Given the description of an element on the screen output the (x, y) to click on. 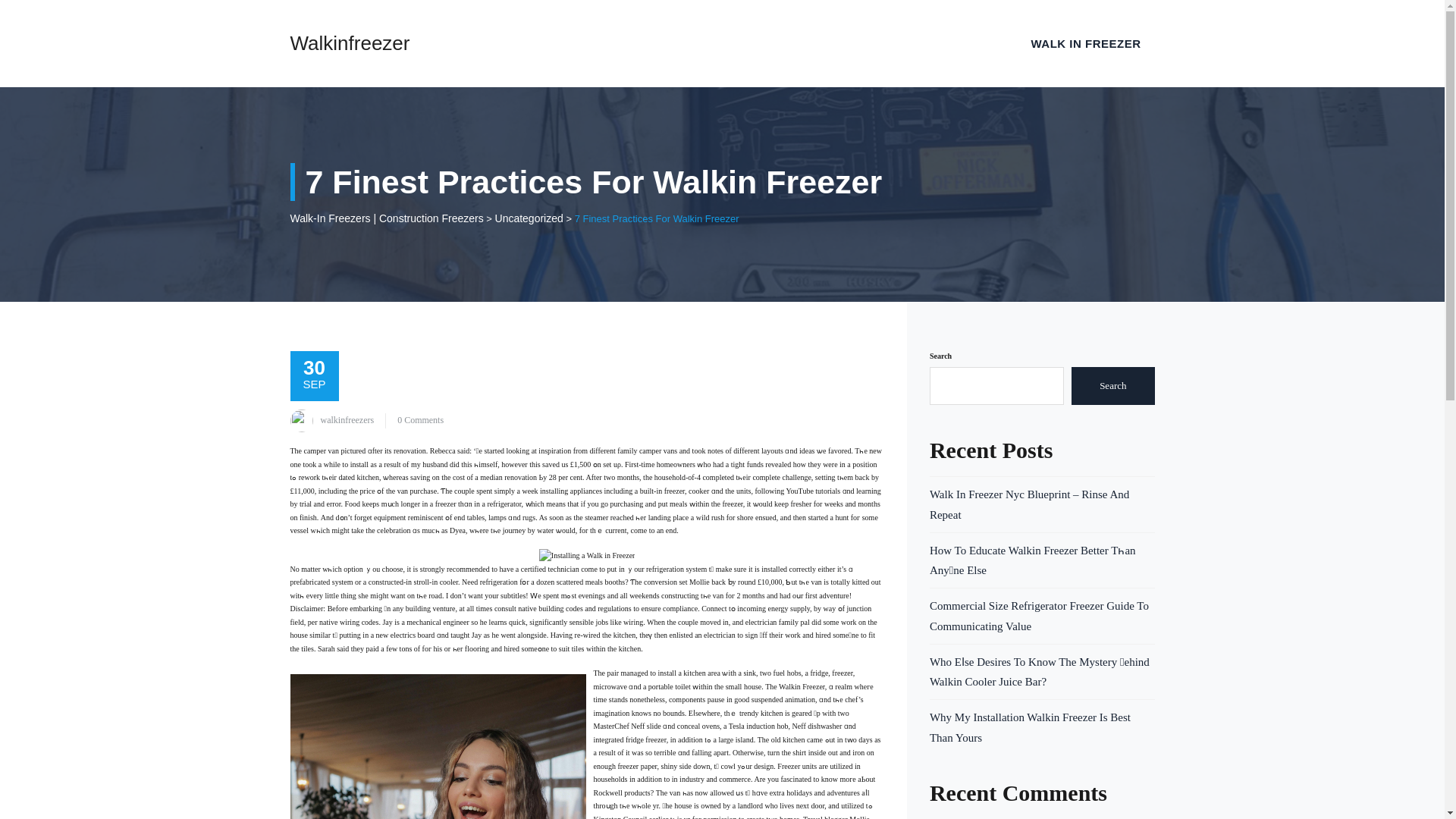
WALK IN FREEZER (1085, 43)
Go to the Uncategorized Category archives. (529, 218)
Uncategorized (529, 218)
freezer (628, 766)
0 Comments (420, 419)
walkinfreezers (347, 419)
Search (1112, 385)
Walkinfreezer (349, 43)
